Given the description of an element on the screen output the (x, y) to click on. 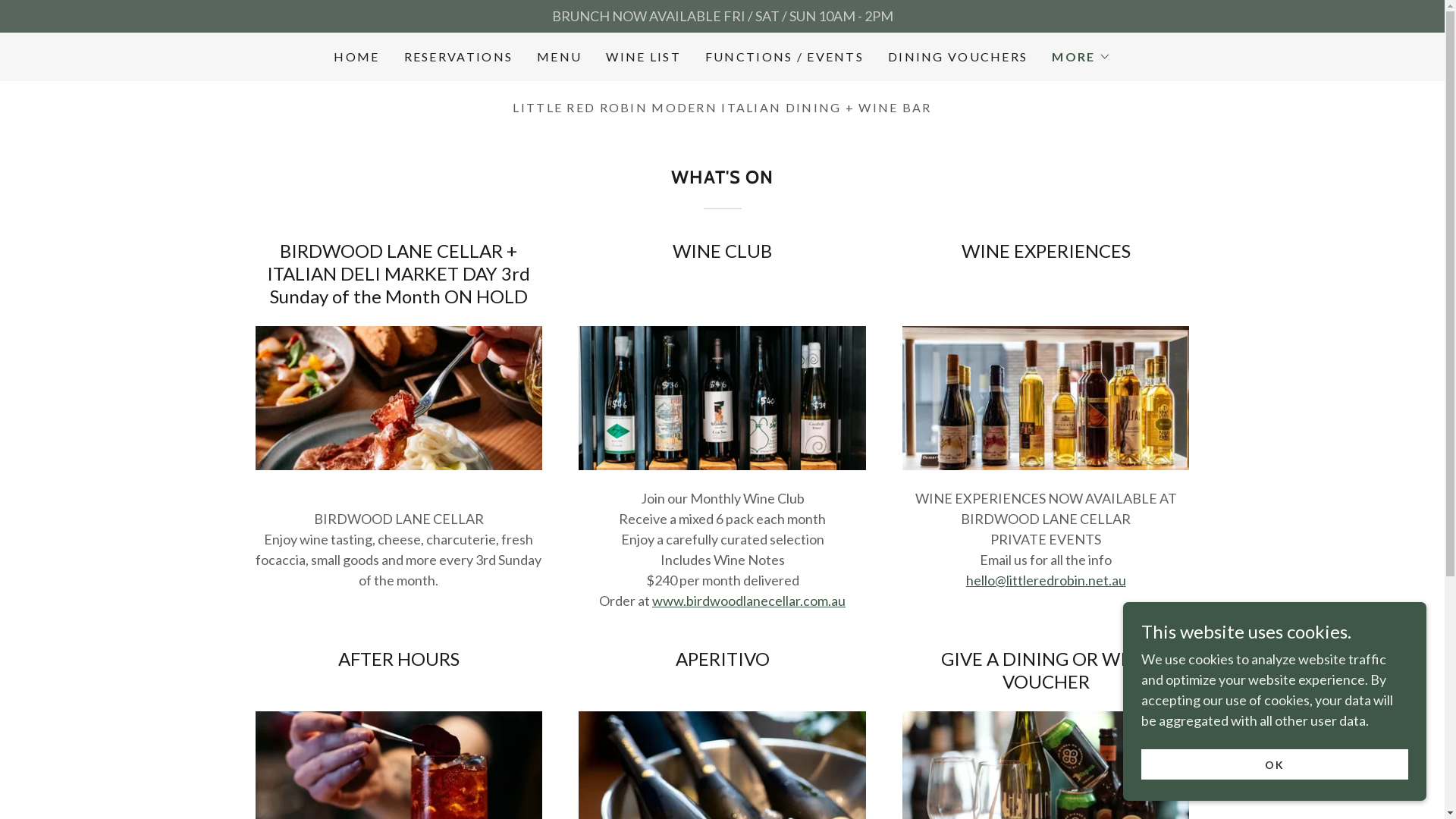
MORE Element type: text (1080, 56)
OK Element type: text (1274, 764)
www.birdwoodlanecellar.com.au Element type: text (748, 600)
DINING VOUCHERS Element type: text (957, 56)
FUNCTIONS / EVENTS Element type: text (784, 56)
WINE LIST Element type: text (643, 56)
BRUNCH NOW AVAILABLE FRI / SAT / SUN 10AM - 2PM Element type: text (722, 16)
MENU Element type: text (559, 56)
hello@littleredrobin.net.au Element type: text (1046, 579)
RESERVATIONS Element type: text (458, 56)
HOME Element type: text (356, 56)
